Given the description of an element on the screen output the (x, y) to click on. 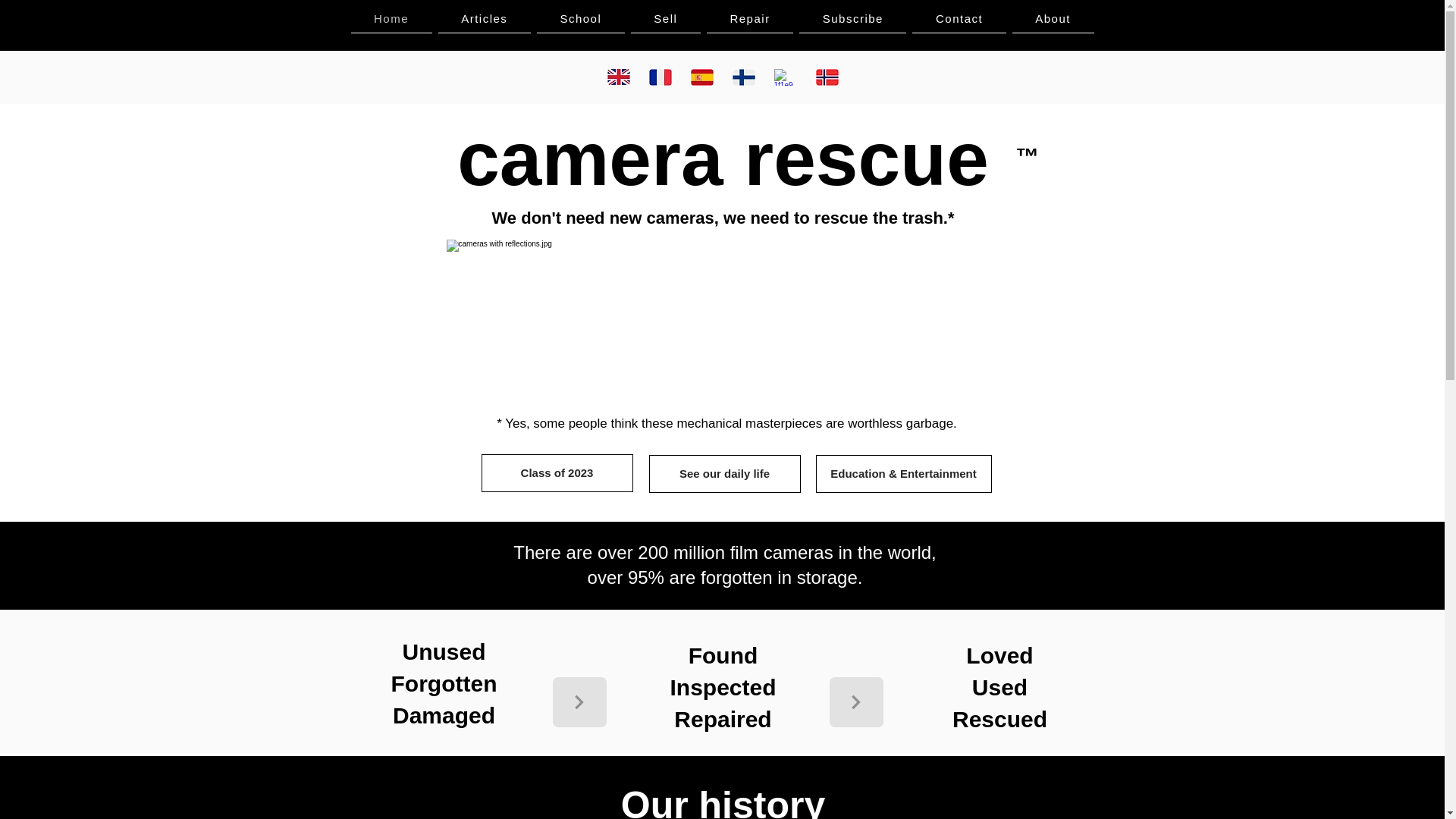
See our daily life (724, 474)
Contact (959, 18)
Subscribe (852, 18)
School (580, 18)
Repair (749, 18)
Sell (665, 18)
About (1052, 18)
Class of 2023 (555, 473)
Articles (484, 18)
Home (390, 18)
